Given the description of an element on the screen output the (x, y) to click on. 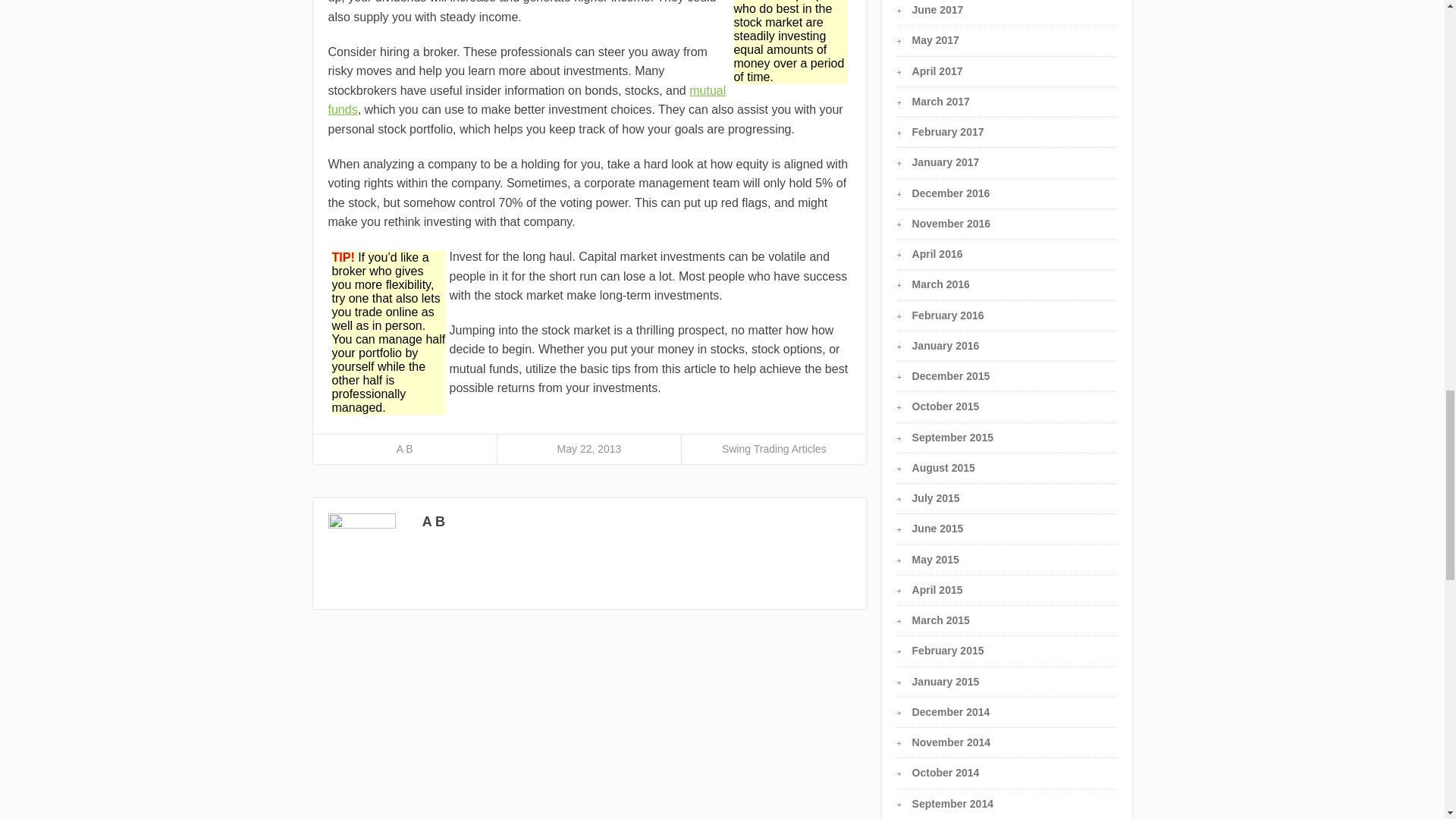
A B (404, 449)
mutual funds (526, 100)
Swing Trading Articles (774, 449)
